Given the description of an element on the screen output the (x, y) to click on. 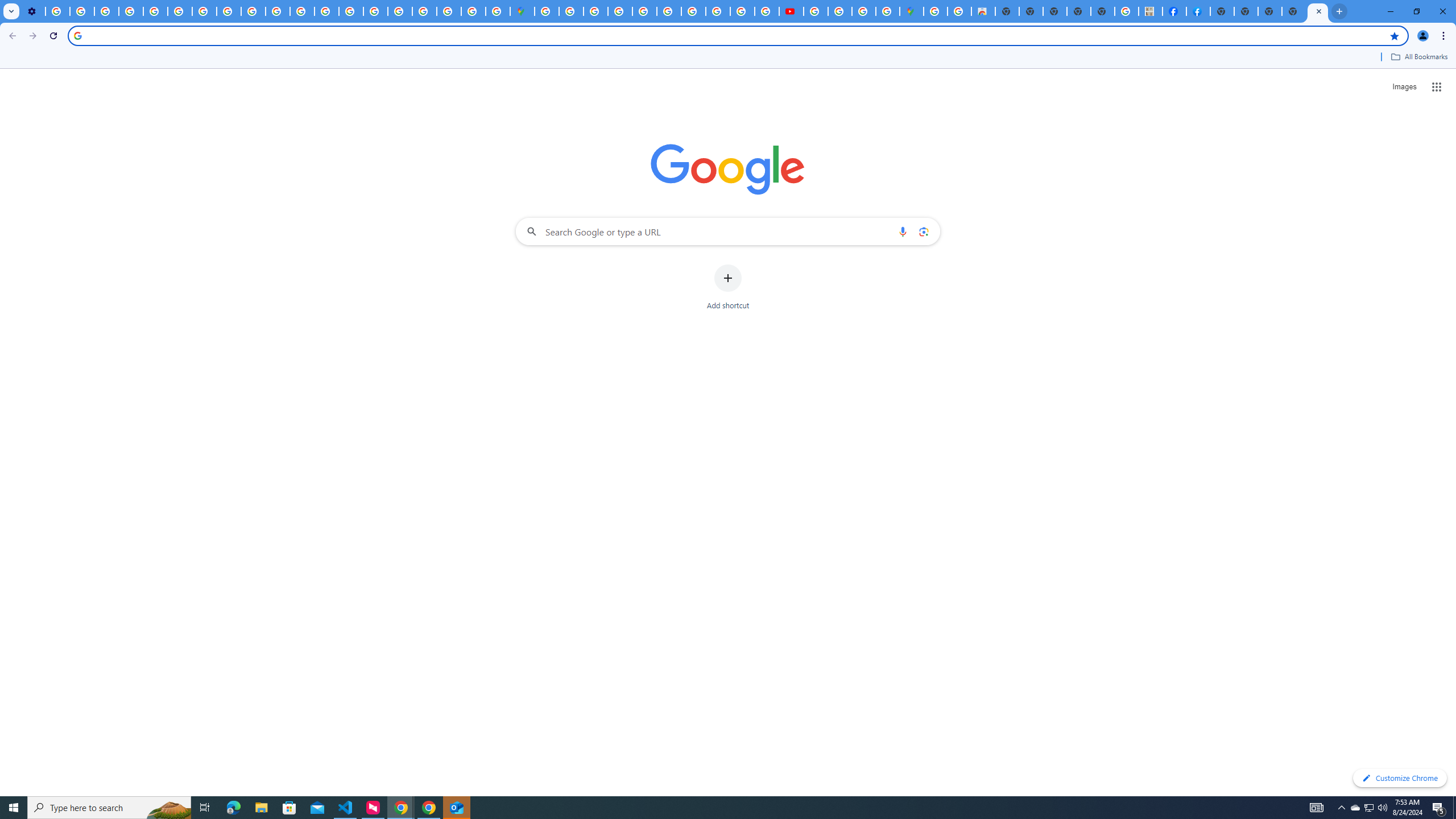
Sign in - Google Accounts (546, 11)
Privacy Help Center - Policies Help (155, 11)
Terms and Conditions (668, 11)
